Given the description of an element on the screen output the (x, y) to click on. 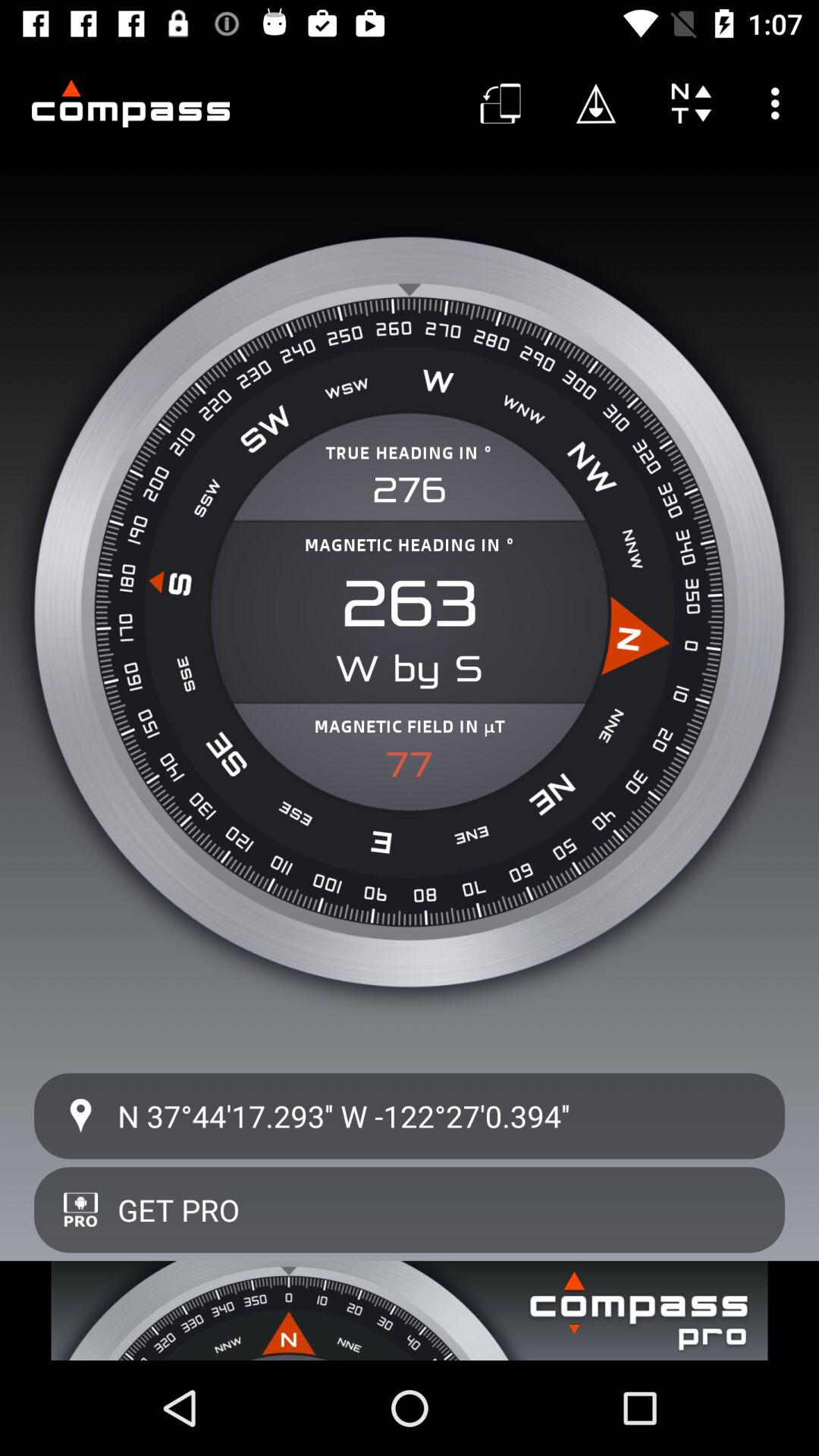
jump until 276 (409, 490)
